Given the description of an element on the screen output the (x, y) to click on. 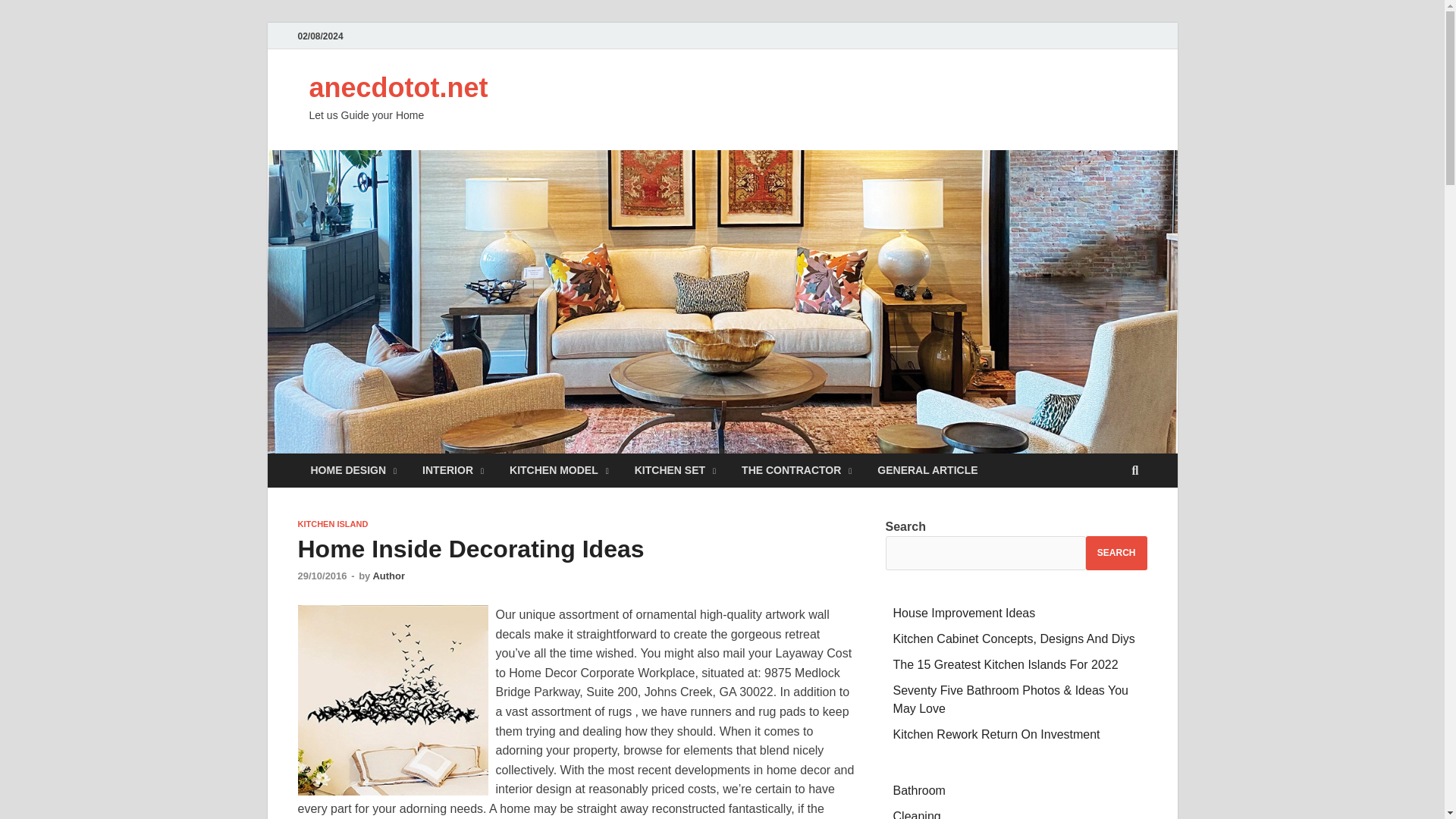
INTERIOR (452, 470)
KITCHEN MODEL (558, 470)
THE CONTRACTOR (796, 470)
anecdotot.net (397, 87)
HOME DESIGN (353, 470)
KITCHEN SET (675, 470)
GENERAL ARTICLE (927, 470)
